Given the description of an element on the screen output the (x, y) to click on. 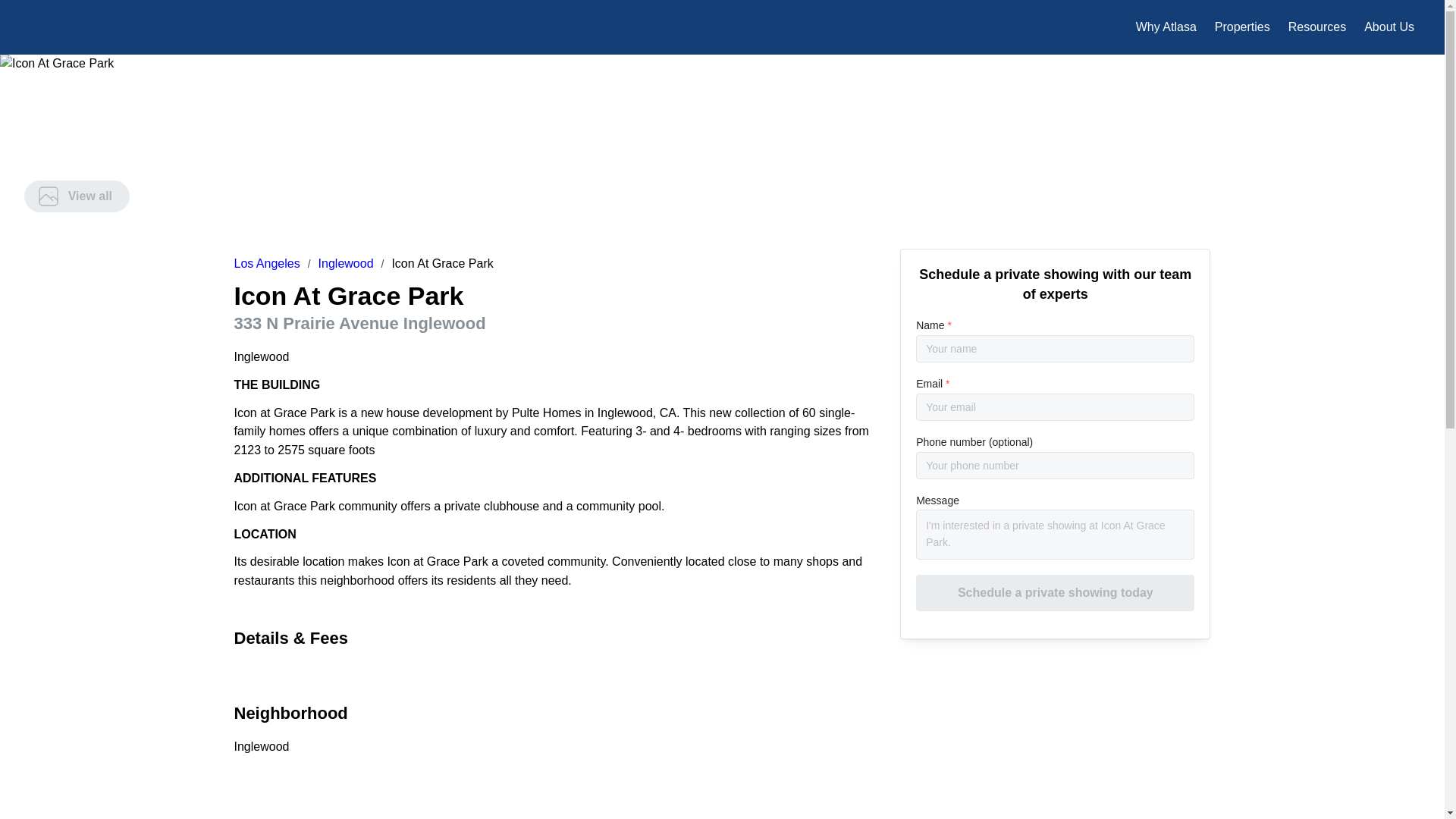
Schedule a private showing today (1054, 592)
View all (76, 196)
Inglewood (346, 263)
Los Angeles (265, 263)
